Given the description of an element on the screen output the (x, y) to click on. 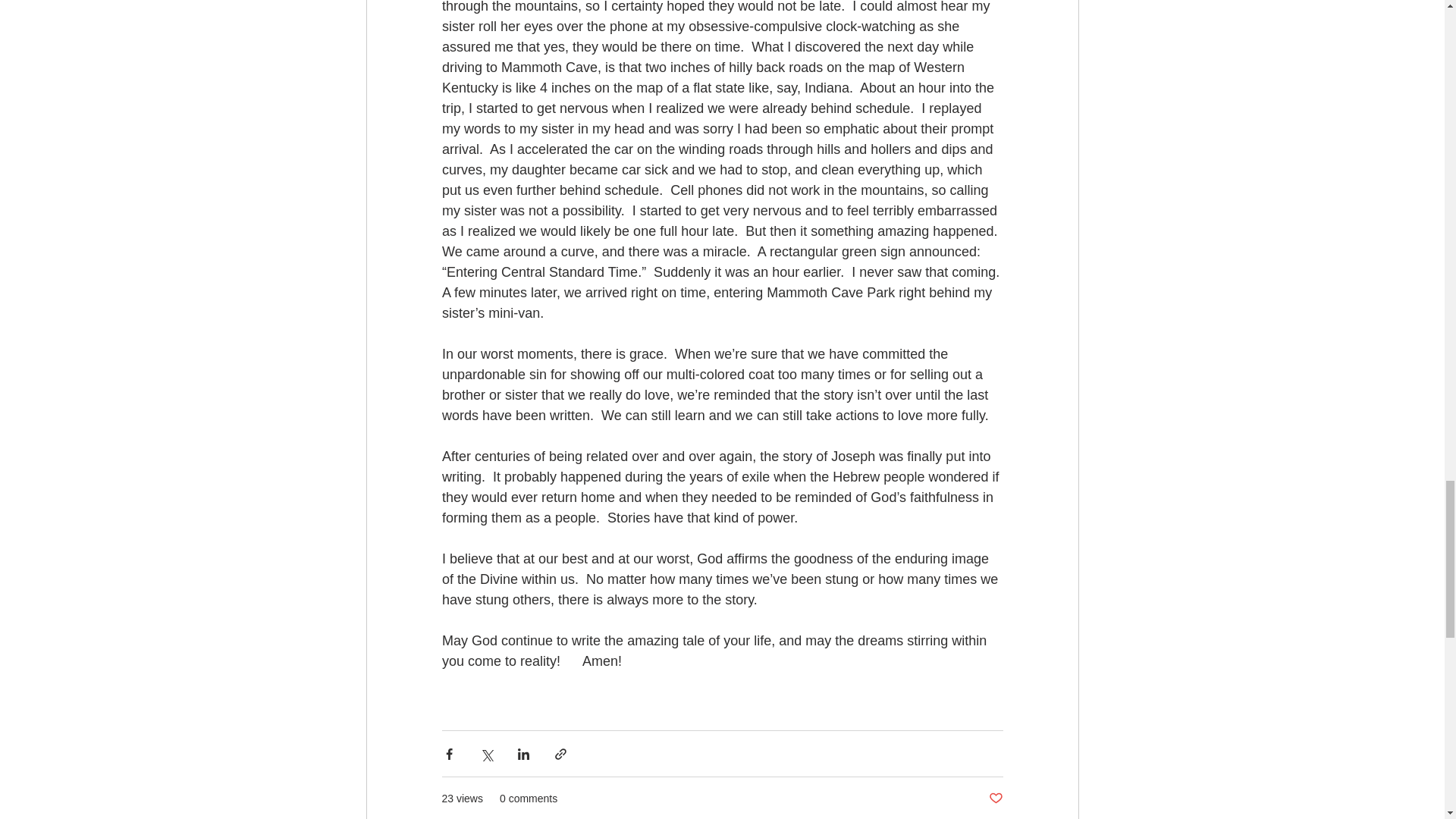
Post not marked as liked (995, 798)
